Given the description of an element on the screen output the (x, y) to click on. 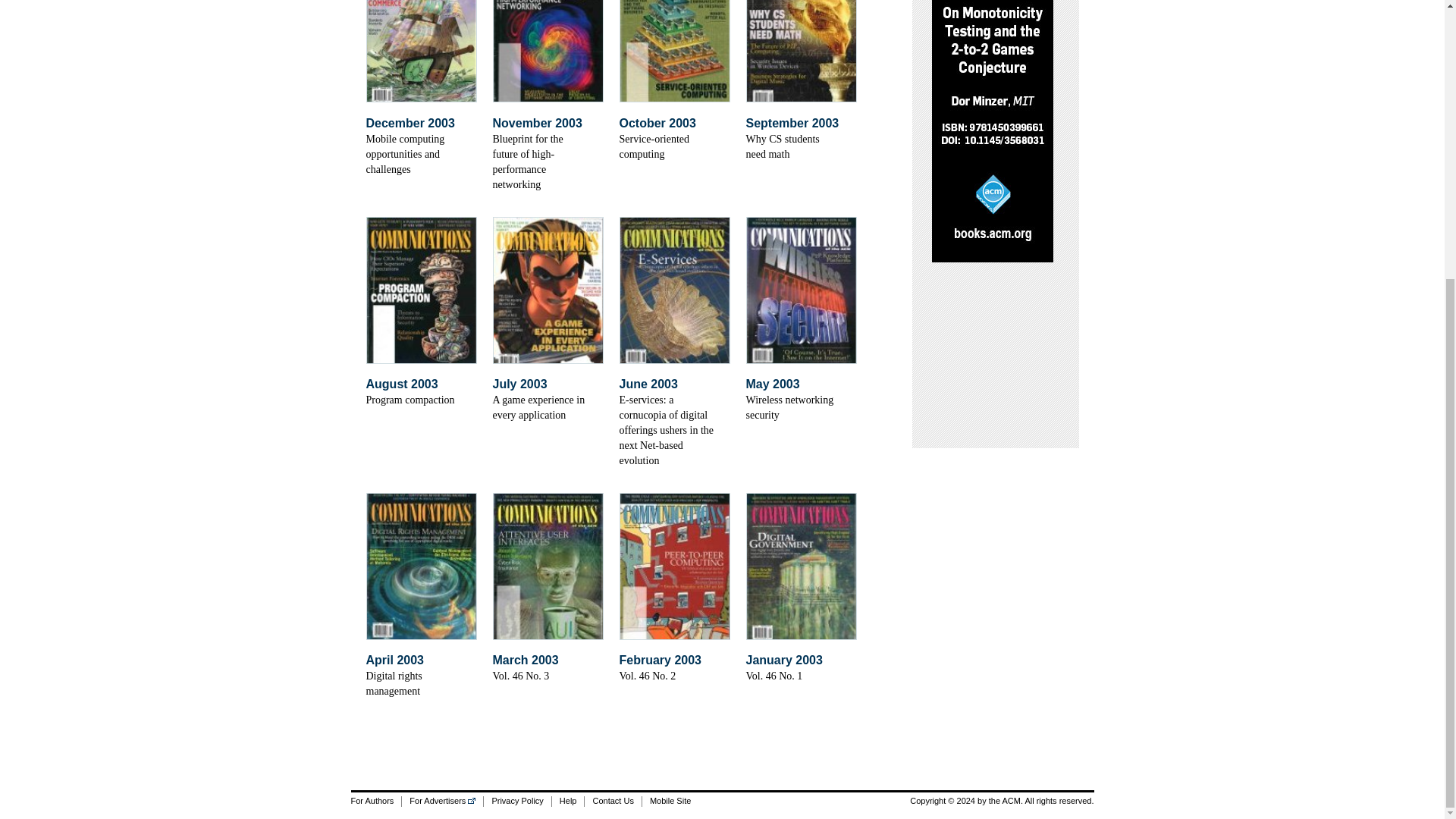
For Authors (375, 800)
Privacy Policy (516, 800)
Help (568, 800)
Contact Us (611, 800)
For Advertisers (442, 800)
